Given the description of an element on the screen output the (x, y) to click on. 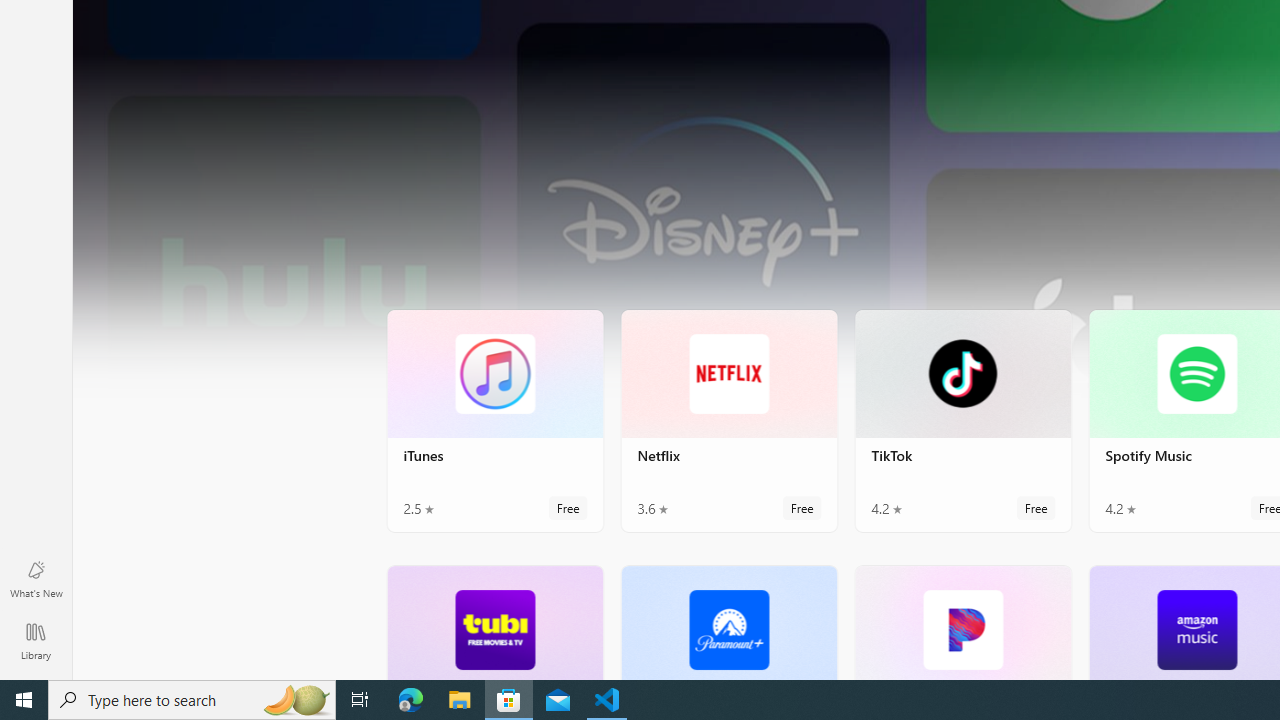
Library (35, 640)
TikTok. Average rating of 4.2 out of five stars. Free   (962, 420)
Paramount+. Average rating of 4.1 out of five stars. Free   (728, 621)
Netflix. Average rating of 3.6 out of five stars. Free   (728, 420)
Pandora. Average rating of 4.5 out of five stars. Free   (962, 621)
iTunes. Average rating of 2.5 out of five stars. Free   (495, 420)
What's New (35, 578)
